Given the description of an element on the screen output the (x, y) to click on. 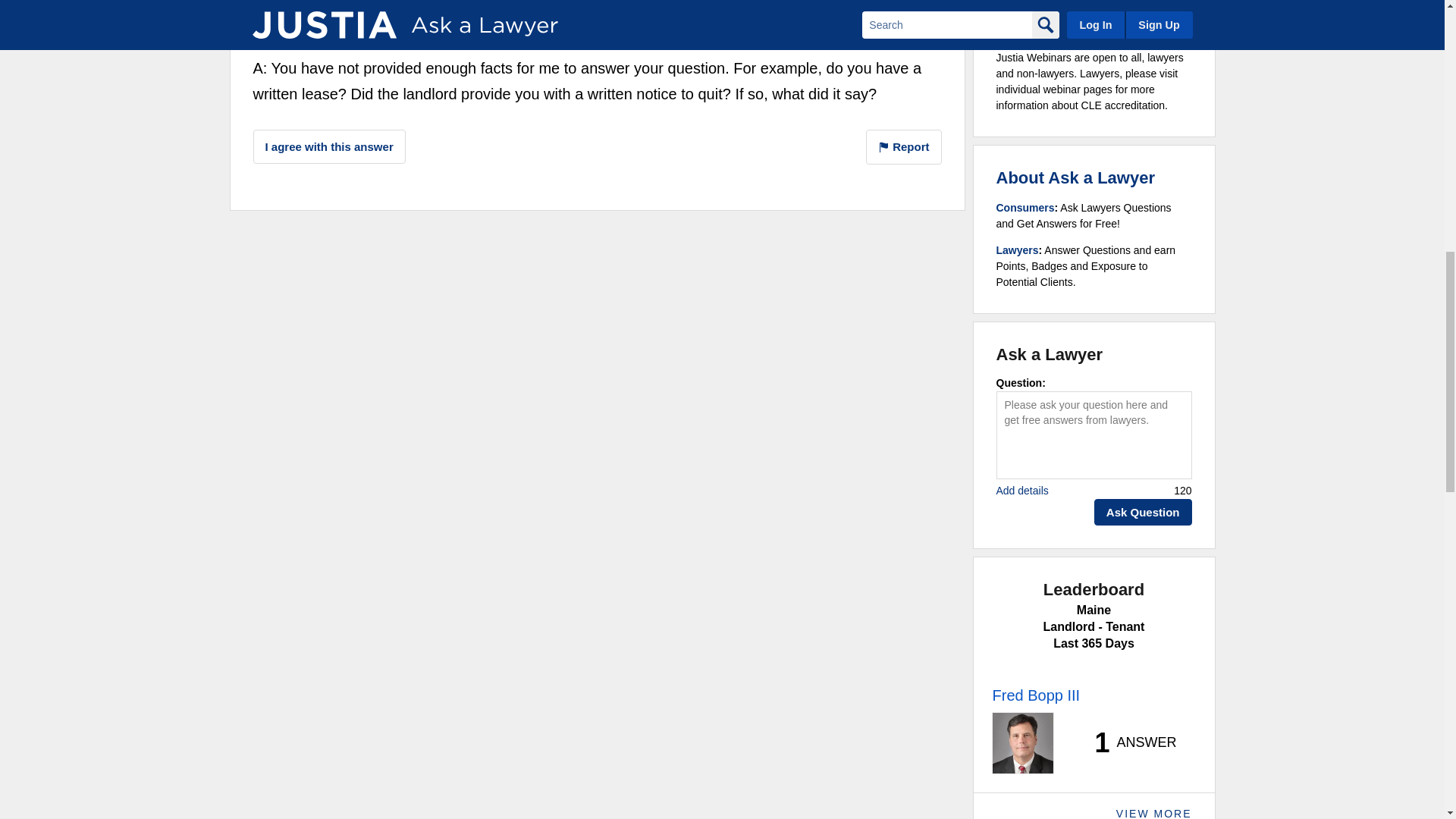
Ask a Lawyer - Leaderboard - Lawyer Name (1035, 694)
email lawyer (670, 2)
Ask a Lawyer - Leaderboard - Lawyer Stats (1127, 742)
Ask a Lawyer - FAQs - Lawyers (1017, 250)
Report (904, 147)
I agree with this answer (329, 146)
Ask a Lawyer - FAQs - Consumers (1024, 207)
Fred Bopp III (313, 16)
view website (671, 21)
Ask a Lawyer - Leaderboard - Lawyer Photo (1021, 742)
